Given the description of an element on the screen output the (x, y) to click on. 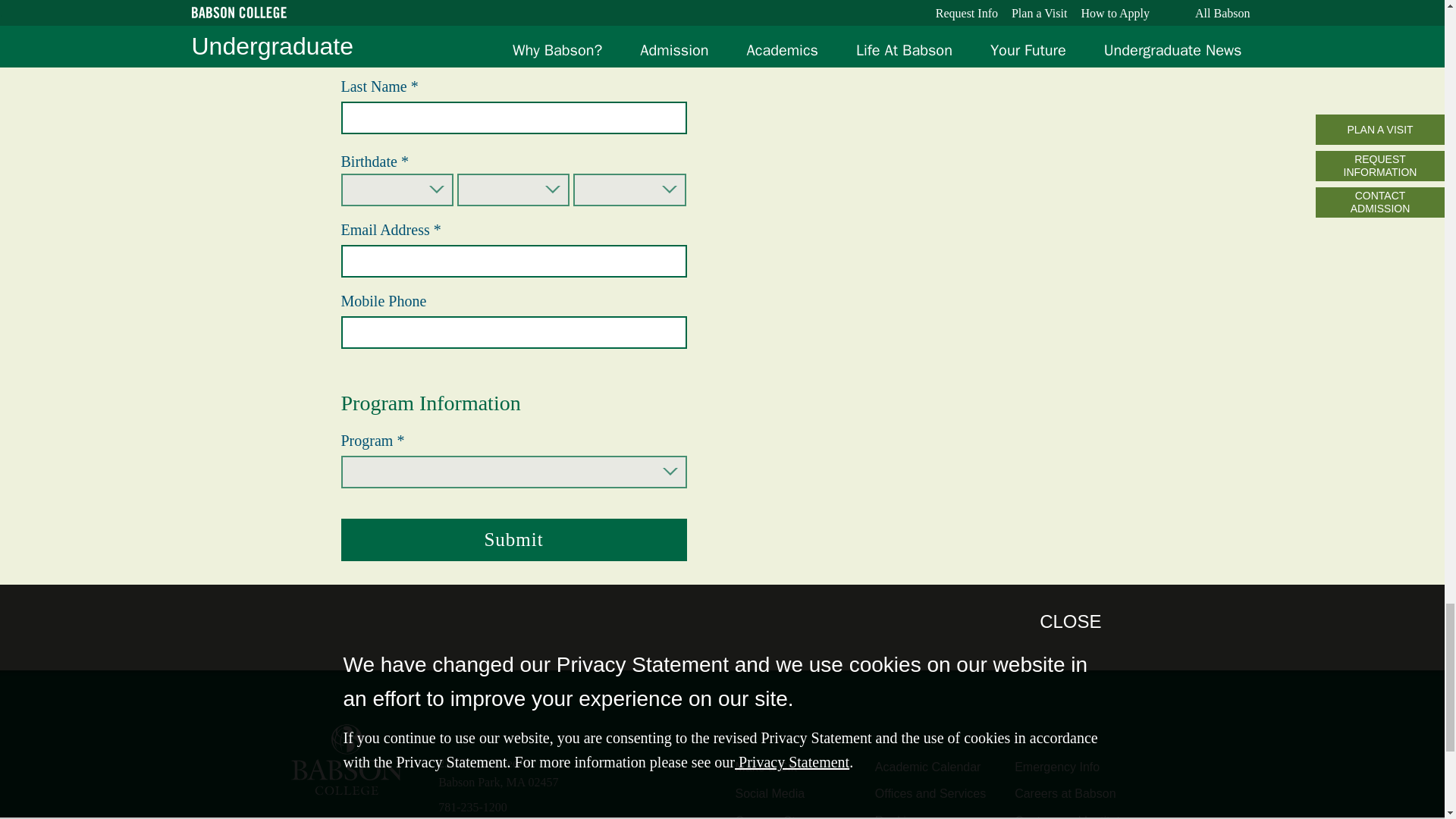
Babson CollegeWhite Babson logo with globe graphic (346, 759)
